Given the description of an element on the screen output the (x, y) to click on. 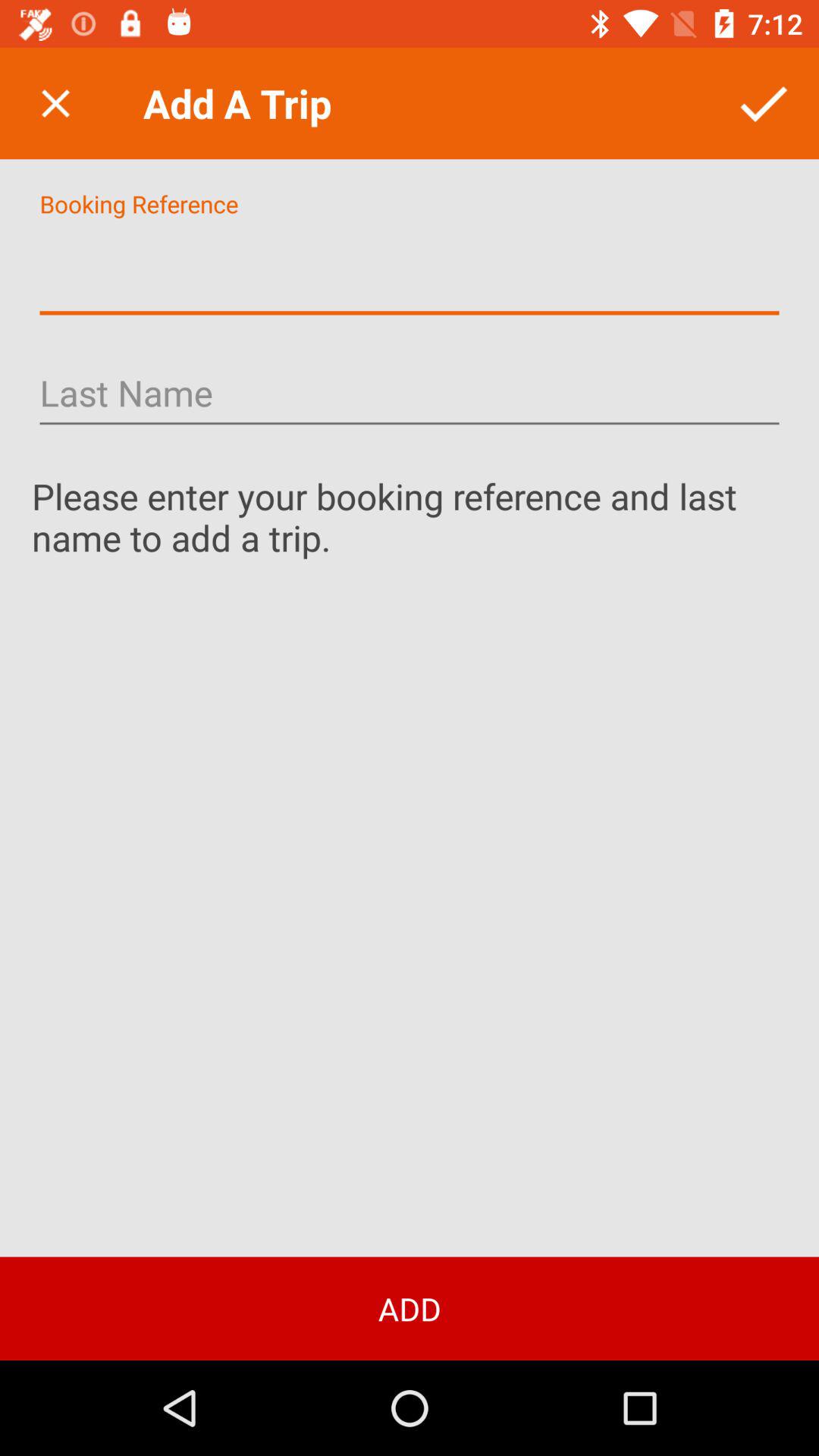
advertisement (409, 270)
